Given the description of an element on the screen output the (x, y) to click on. 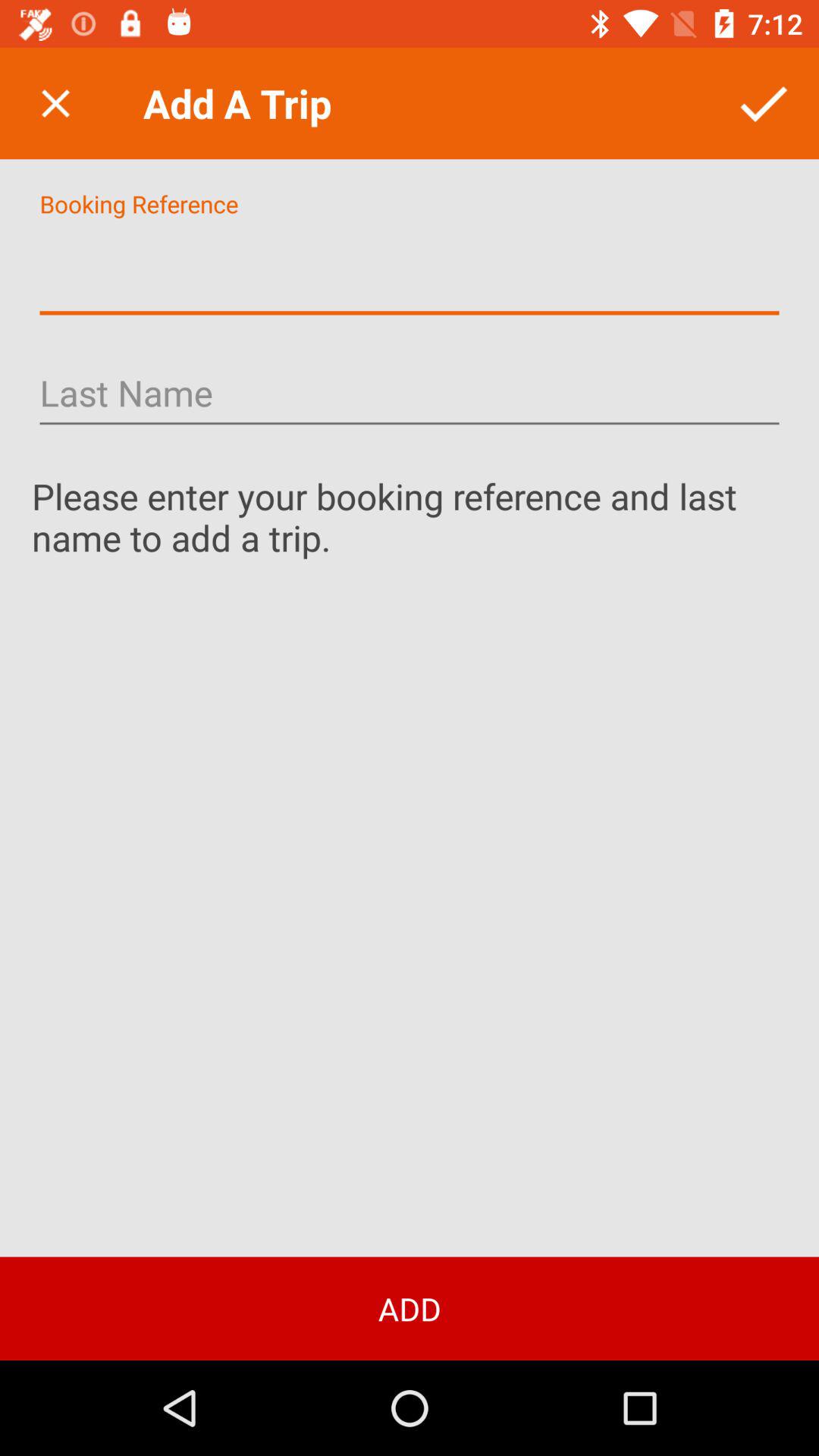
advertisement (409, 270)
